Given the description of an element on the screen output the (x, y) to click on. 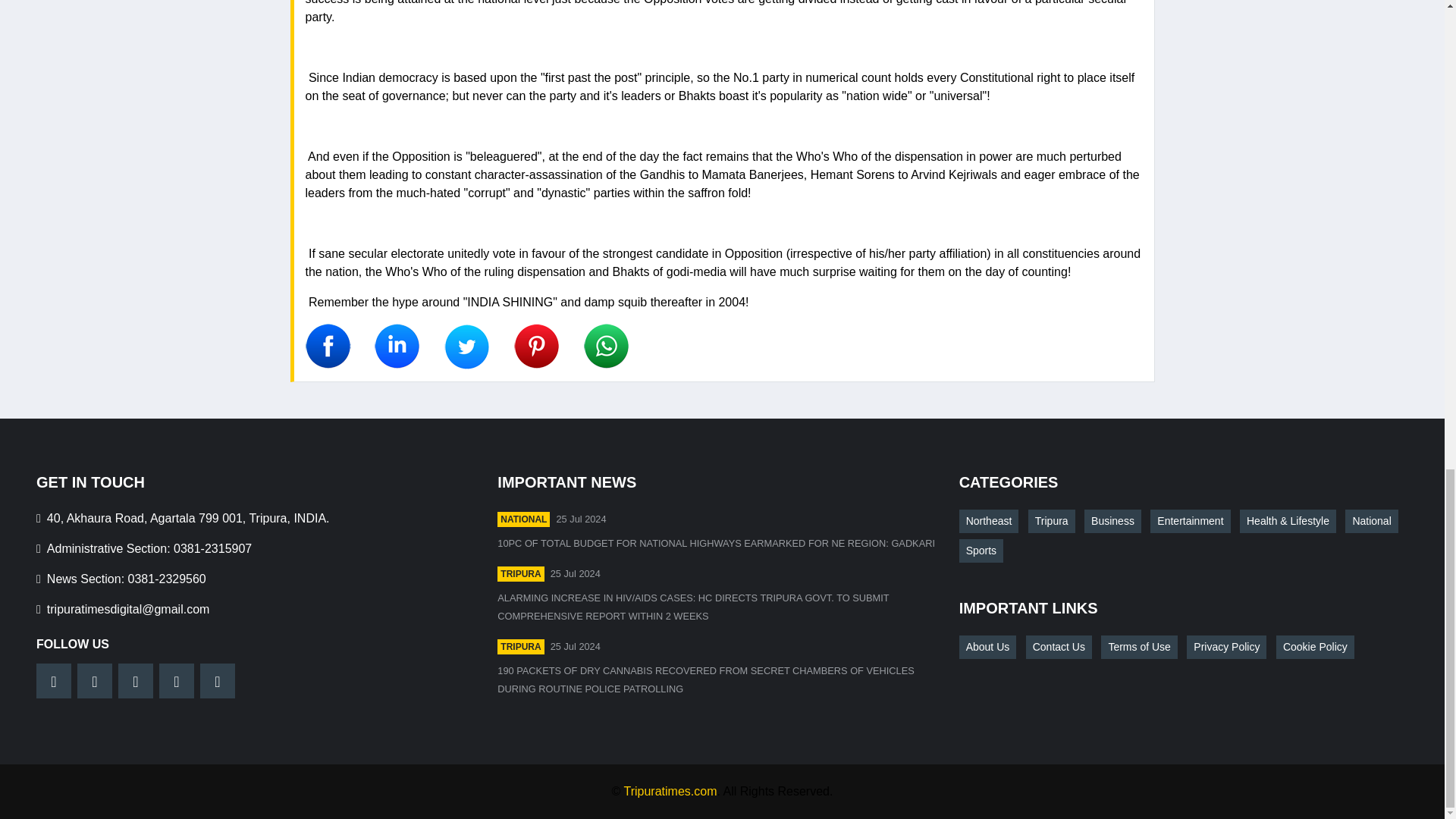
NATIONAL (523, 519)
